Given the description of an element on the screen output the (x, y) to click on. 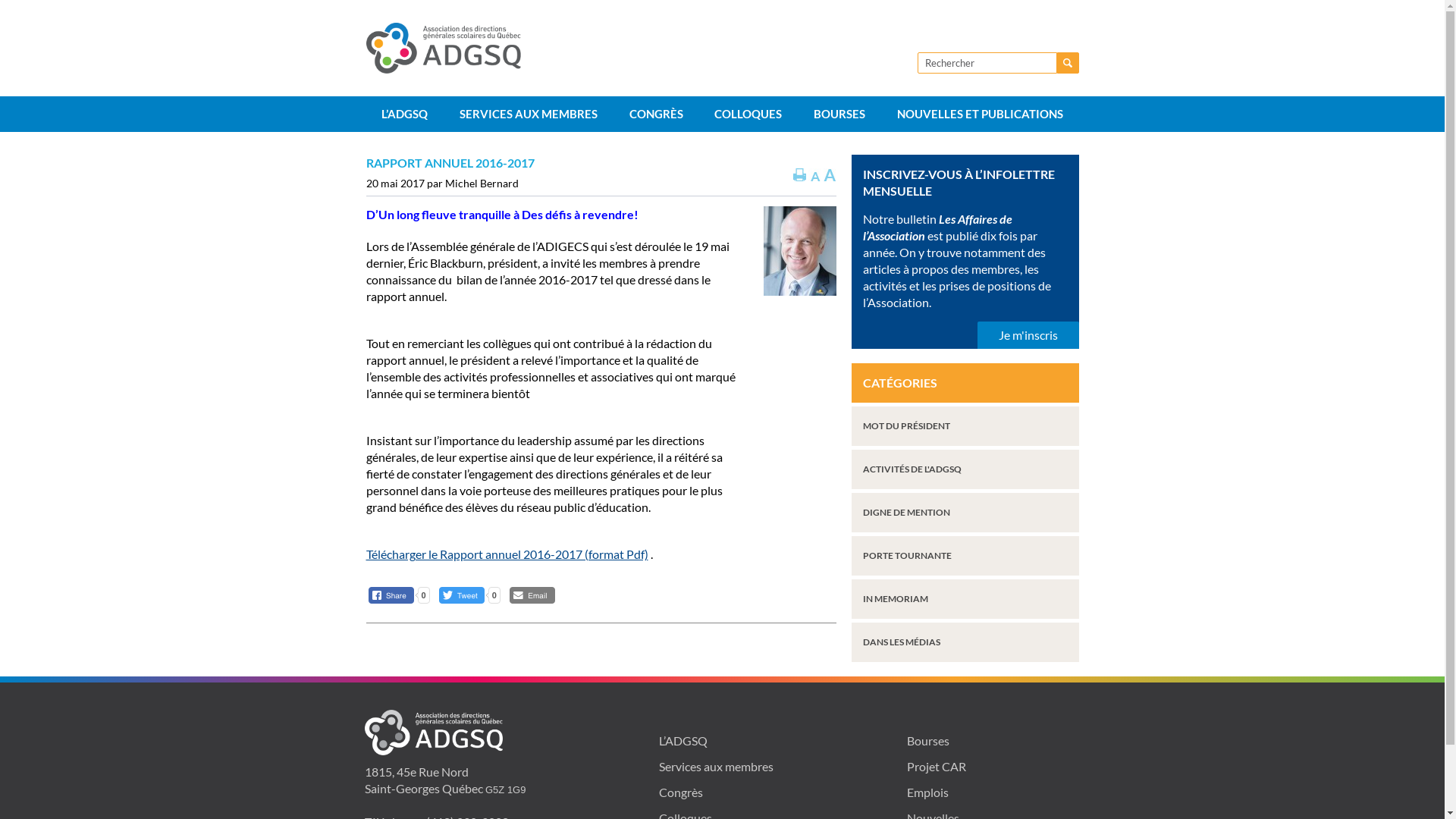
SERVICES AUX MEMBRES Element type: text (528, 113)
Bourses Element type: text (927, 740)
IN MEMORIAM Element type: text (964, 598)
NOUVELLES ET PUBLICATIONS Element type: text (980, 113)
COLLOQUES Element type: text (748, 113)
DIGNE DE MENTION Element type: text (964, 512)
Services aux membres Element type: text (715, 766)
Projet CAR Element type: text (936, 766)
BOURSES Element type: text (839, 113)
Je m'inscris Element type: text (1027, 334)
PORTE TOURNANTE Element type: text (964, 555)
Emplois Element type: text (927, 791)
